Given the description of an element on the screen output the (x, y) to click on. 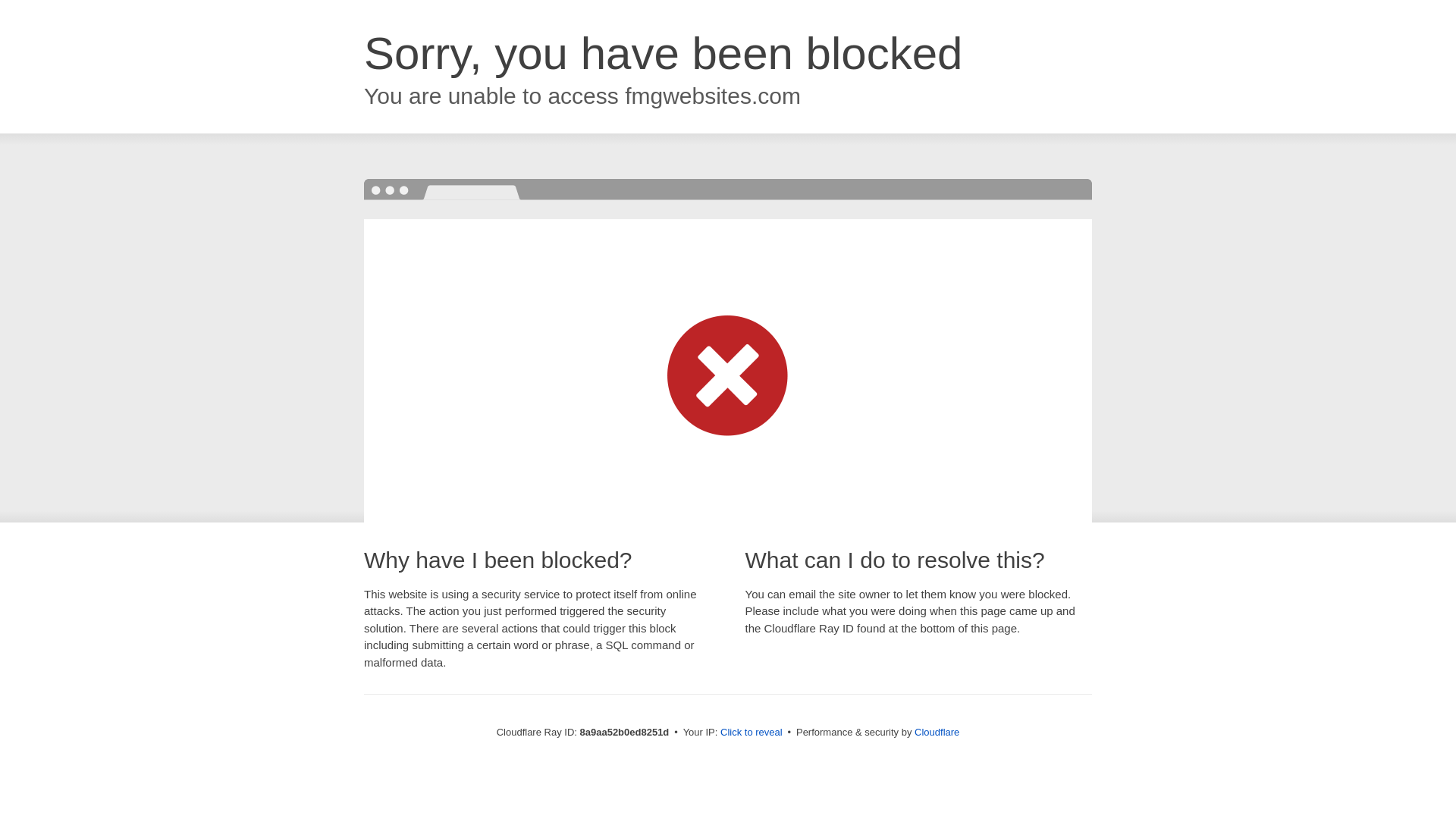
Cloudflare (936, 731)
Click to reveal (751, 732)
